Given the description of an element on the screen output the (x, y) to click on. 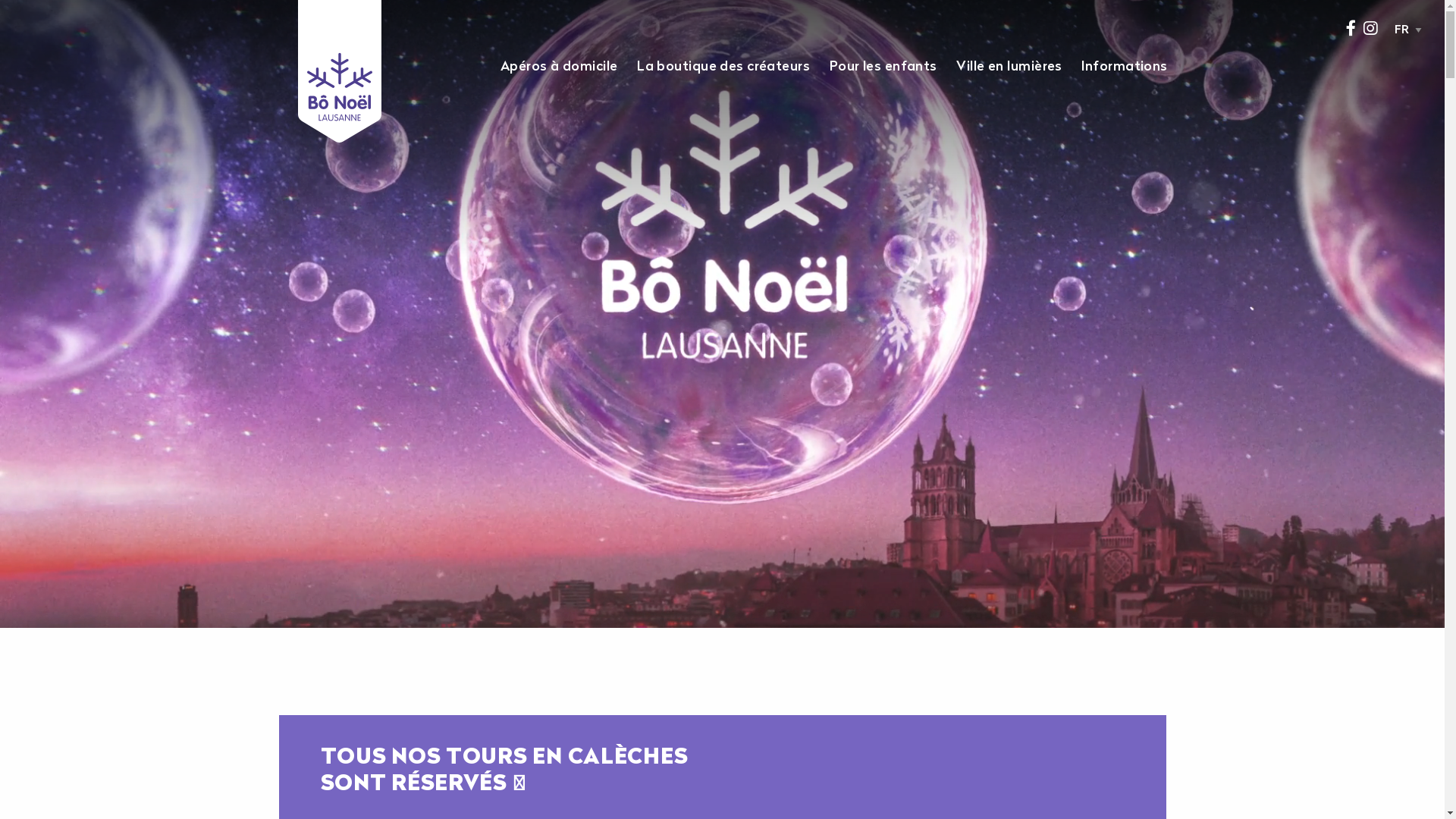
Pour les enfants Element type: text (883, 66)
Informations Element type: text (1124, 66)
